Given the description of an element on the screen output the (x, y) to click on. 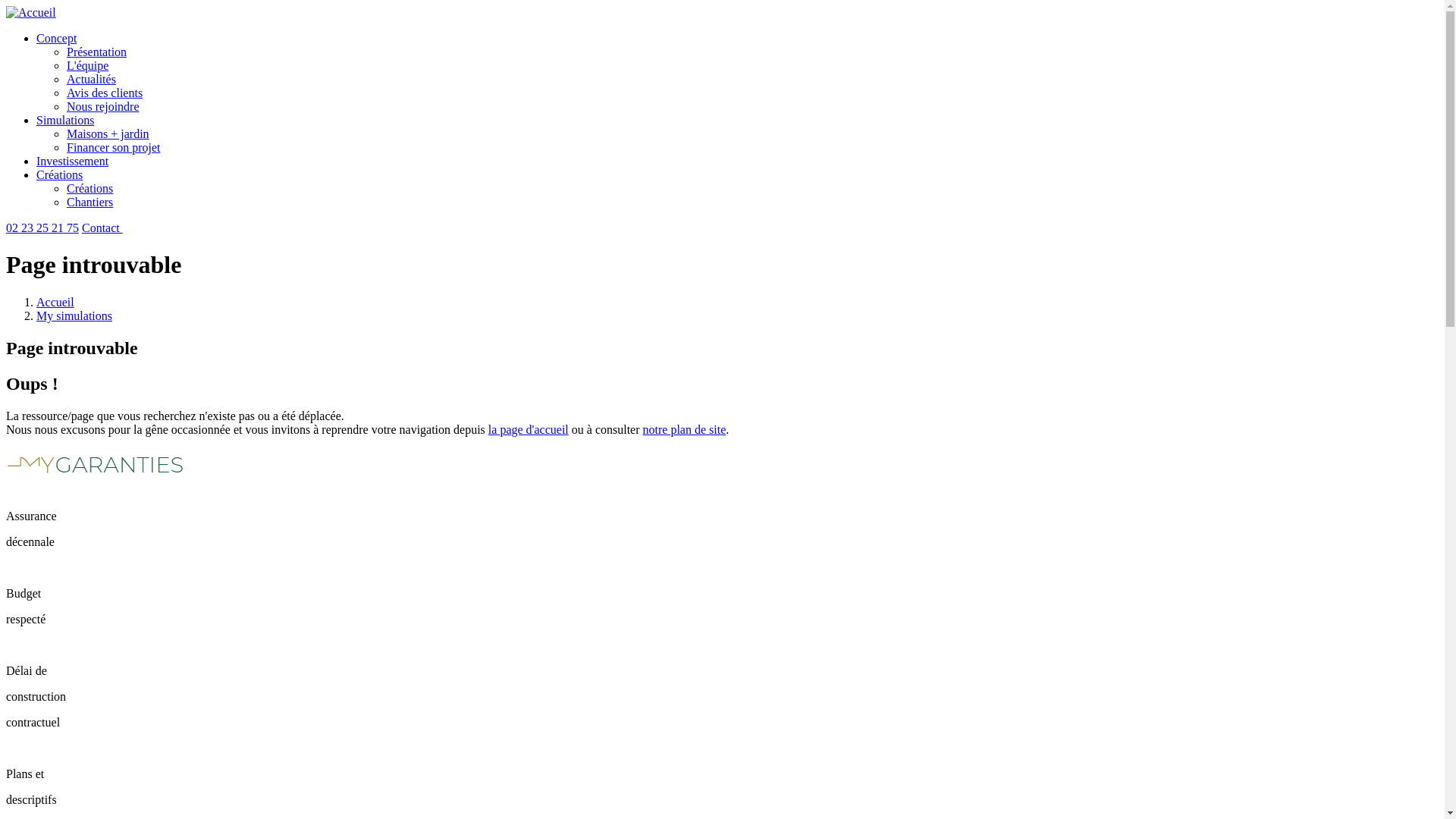
Contact Element type: text (100, 227)
  Element type: text (120, 227)
Avis des clients Element type: text (104, 92)
Menu Element type: hover (120, 227)
Investissement Element type: text (72, 160)
Concept Element type: text (56, 37)
Accueil Element type: text (55, 301)
la page d'accueil Element type: text (528, 429)
Aller au contenu principal Element type: text (6, 6)
notre plan de site Element type: text (684, 429)
Nous rejoindre Element type: text (102, 106)
Maisons + jardin Element type: text (107, 133)
02 23 25 21 75 Element type: text (42, 227)
My simulations Element type: text (74, 315)
Chantiers Element type: text (89, 201)
Simulations Element type: text (65, 119)
Financer son projet Element type: text (113, 147)
